Given the description of an element on the screen output the (x, y) to click on. 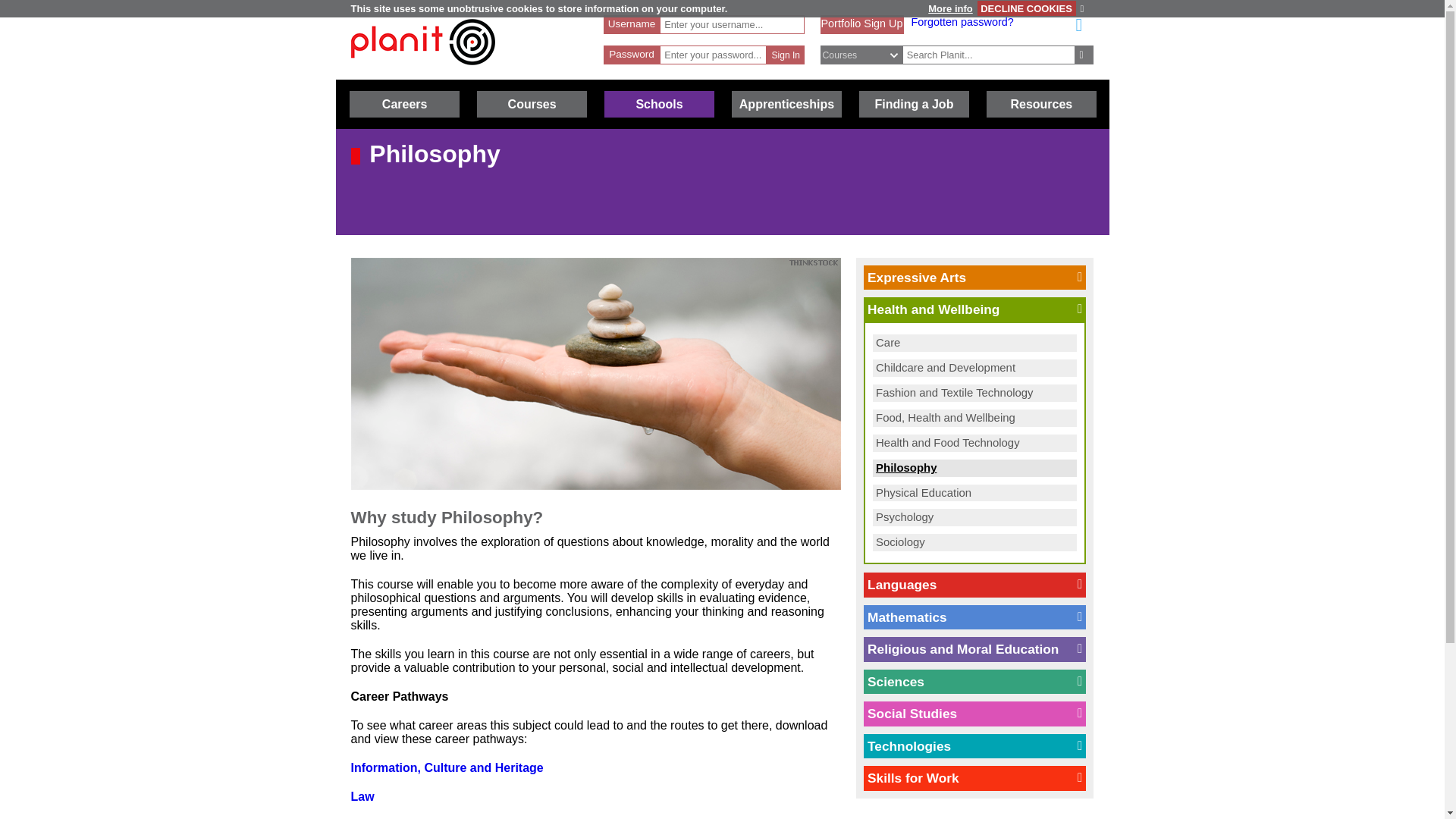
Planit (422, 41)
Careers (404, 103)
Forgotten password? (962, 21)
Search (1084, 54)
Law (362, 796)
Planit Home (422, 72)
Enter text to search Planit (988, 54)
Portfolio Sign Up (861, 23)
DECLINE COOKIES (1025, 7)
Resources (1041, 103)
Portfolio Sign Up (861, 23)
Sign In (786, 54)
More info (949, 8)
Information, Culture and Heritage (446, 767)
Select search type (869, 54)
